Given the description of an element on the screen output the (x, y) to click on. 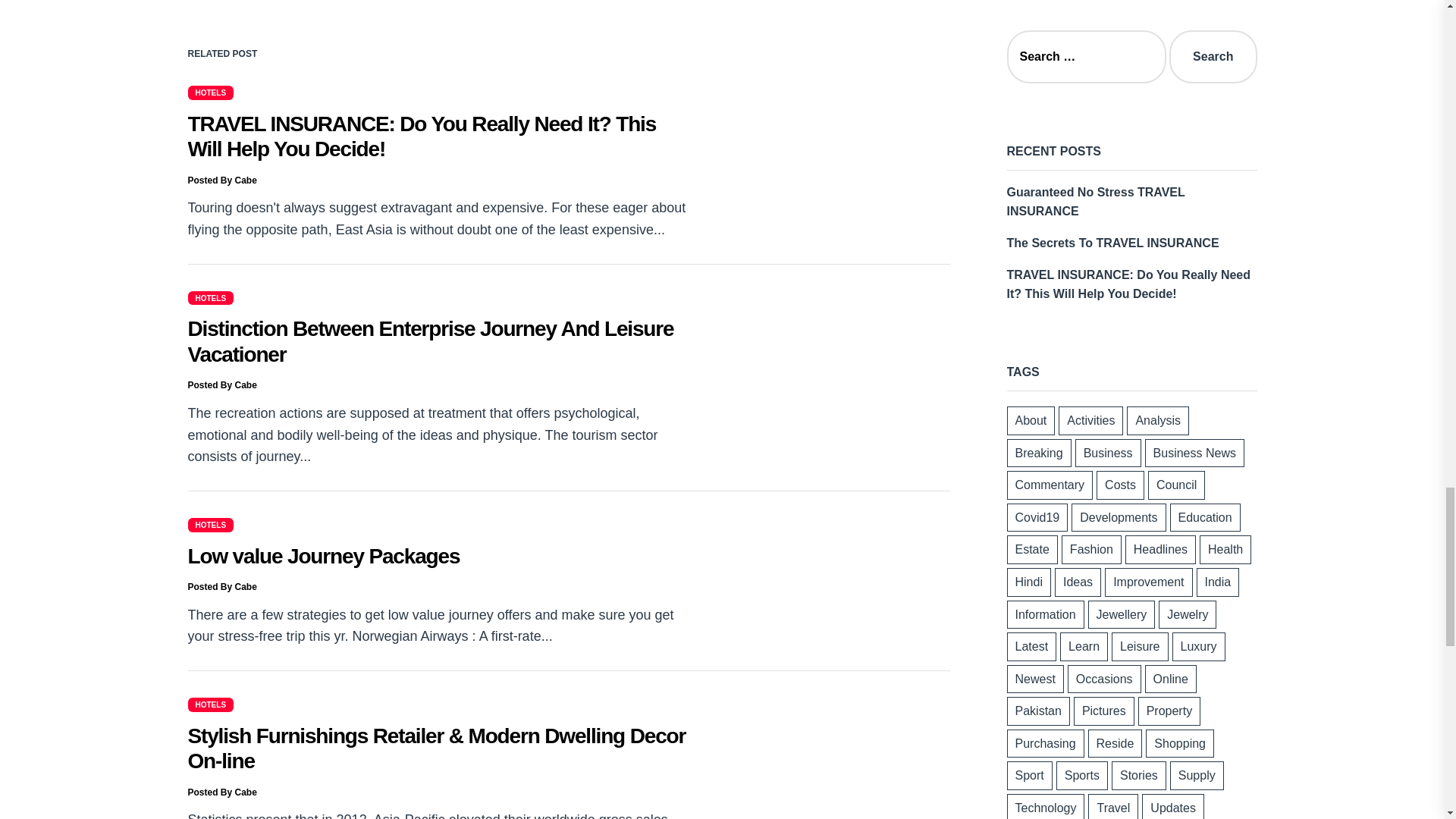
HOTELS (210, 524)
HOTELS (210, 297)
HOTELS (210, 92)
Posted By Cabe (222, 385)
Posted By Cabe (222, 586)
Low value Journey Packages (323, 556)
Posted By Cabe (222, 180)
Posted By Cabe (222, 792)
HOTELS (210, 704)
